Given the description of an element on the screen output the (x, y) to click on. 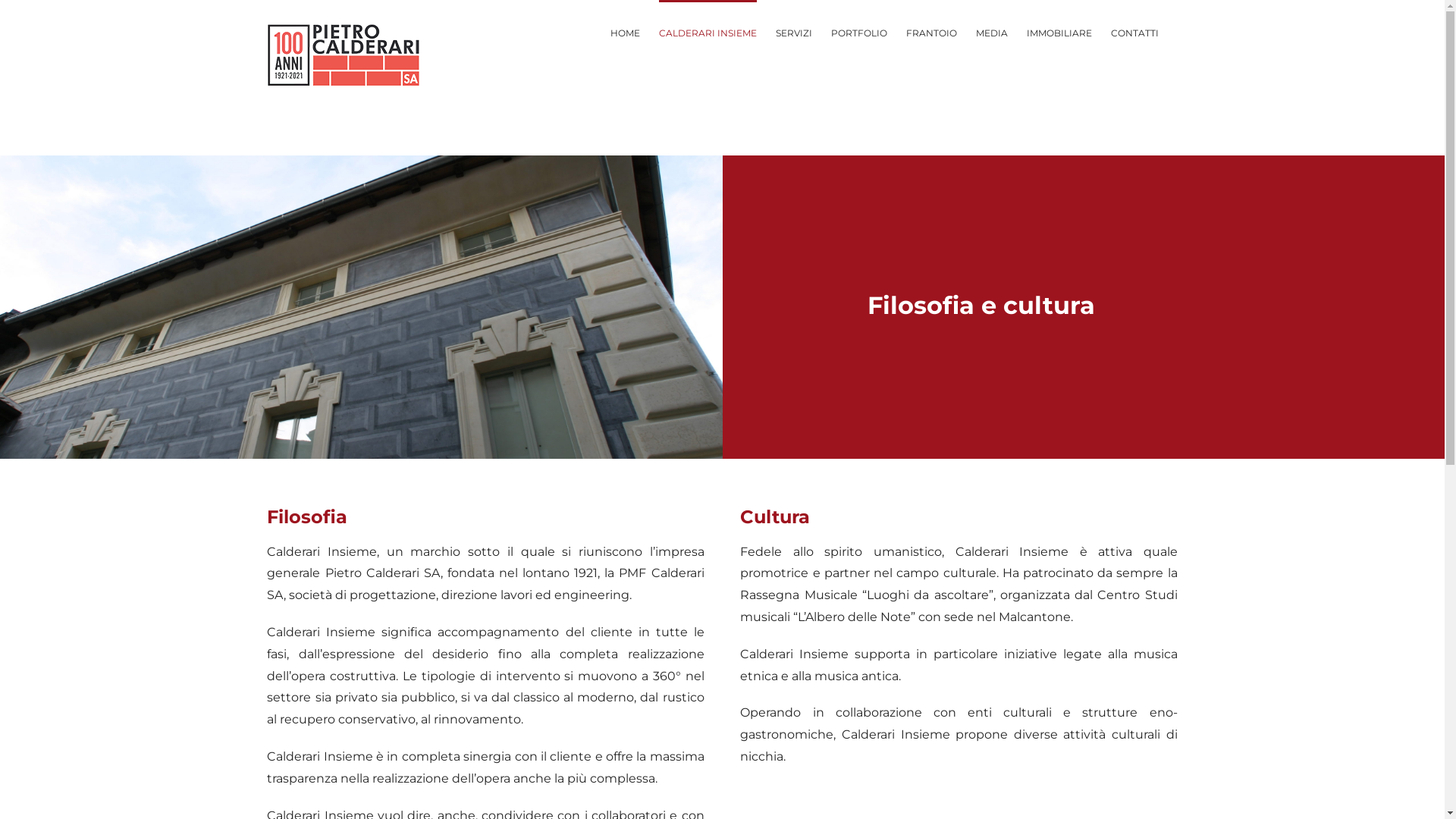
SERVIZI Element type: text (793, 31)
MEDIA Element type: text (991, 31)
FRANTOIO Element type: text (930, 31)
CALDERARI INSIEME Element type: text (707, 31)
CONTATTI Element type: text (1133, 31)
HOME Element type: text (624, 31)
IMMOBILIARE Element type: text (1059, 31)
PORTFOLIO Element type: text (859, 31)
